Given the description of an element on the screen output the (x, y) to click on. 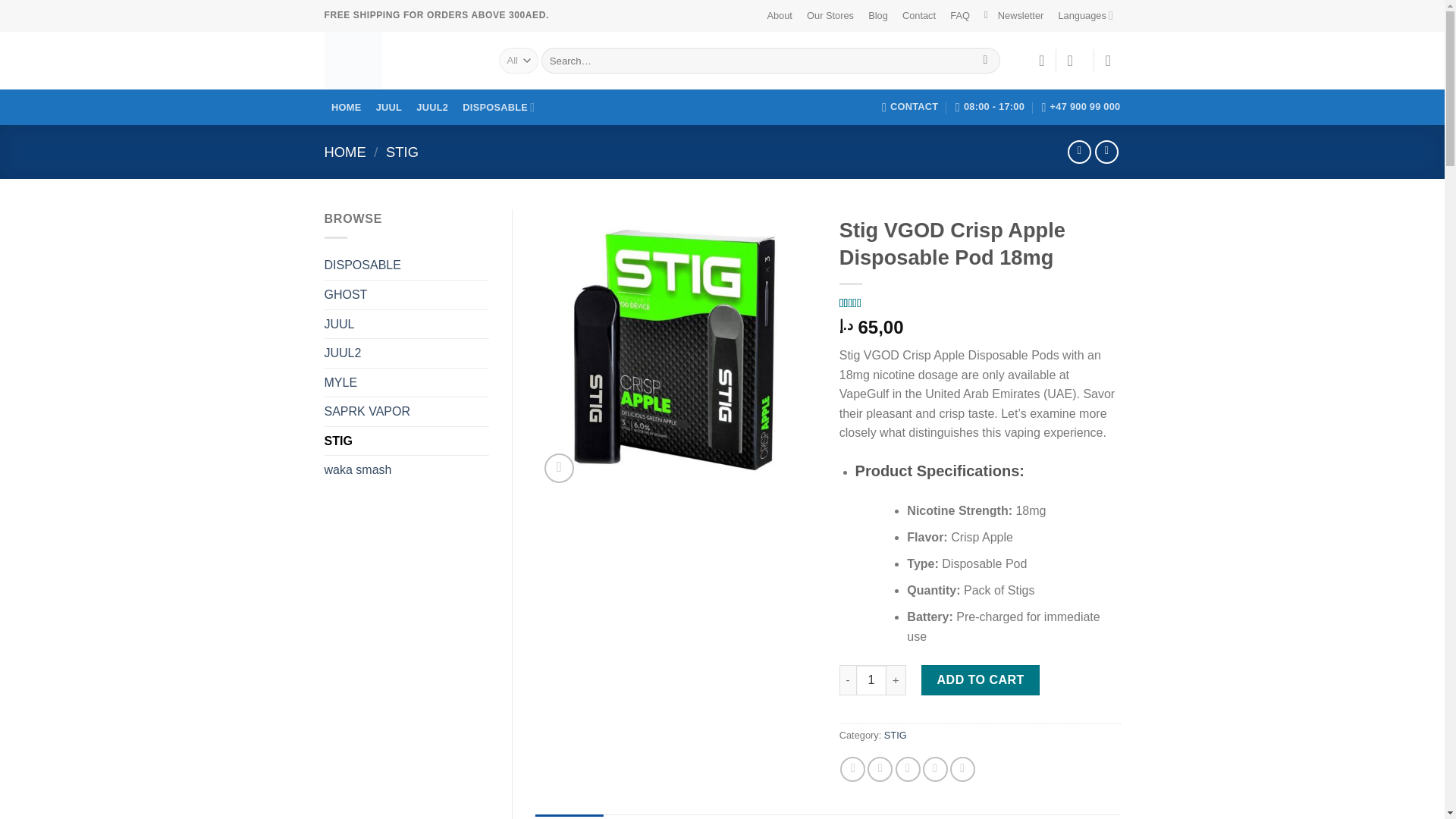
Newsletter (1012, 15)
JUUL (388, 107)
HOME (345, 151)
Sign up for Newsletter (1012, 15)
About (779, 15)
1 (871, 680)
08:00 - 17:00 (990, 106)
FAQ (959, 15)
STIG (402, 151)
Share on Facebook (852, 769)
